Given the description of an element on the screen output the (x, y) to click on. 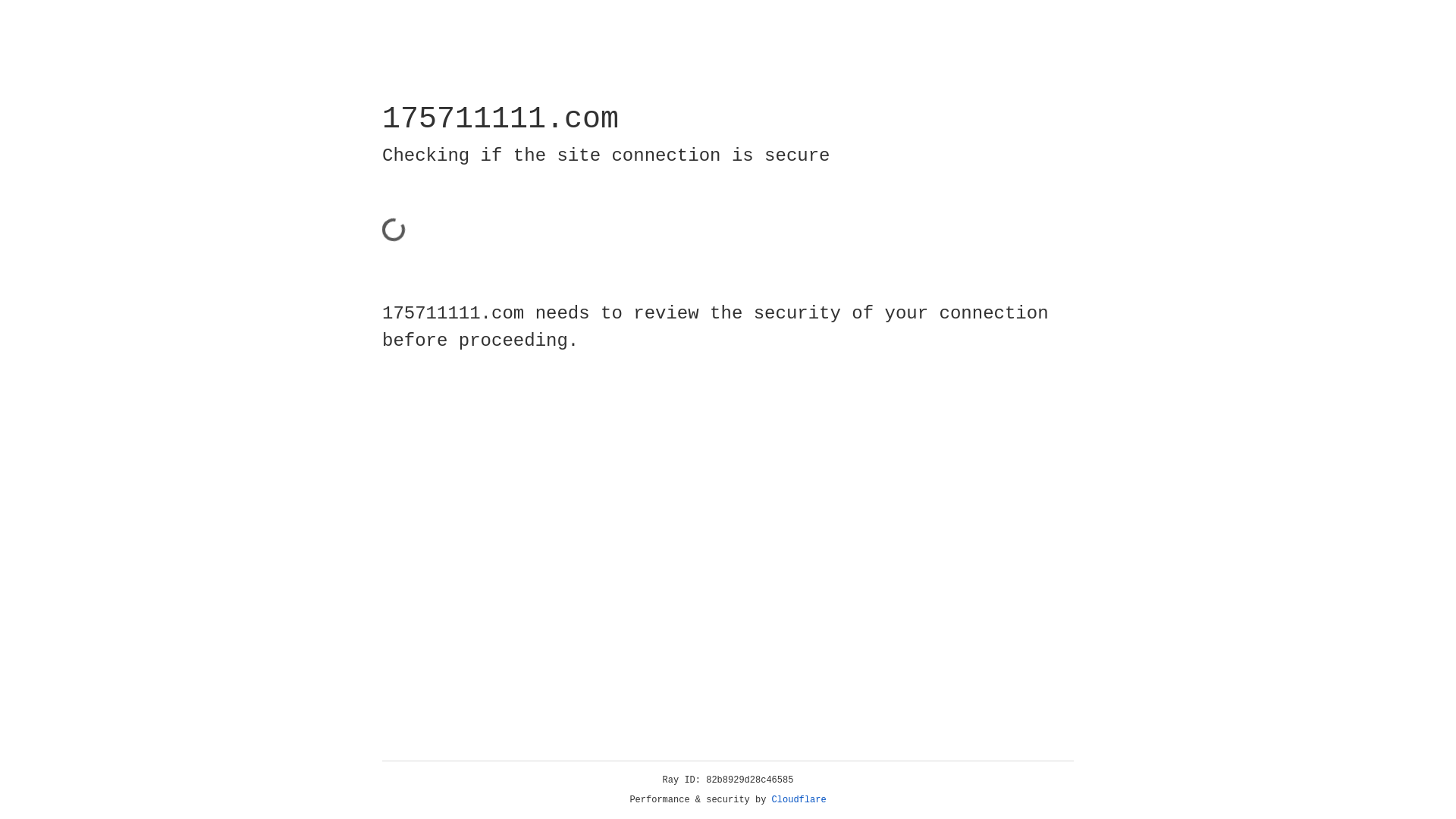
Cloudflare Element type: text (798, 799)
